Given the description of an element on the screen output the (x, y) to click on. 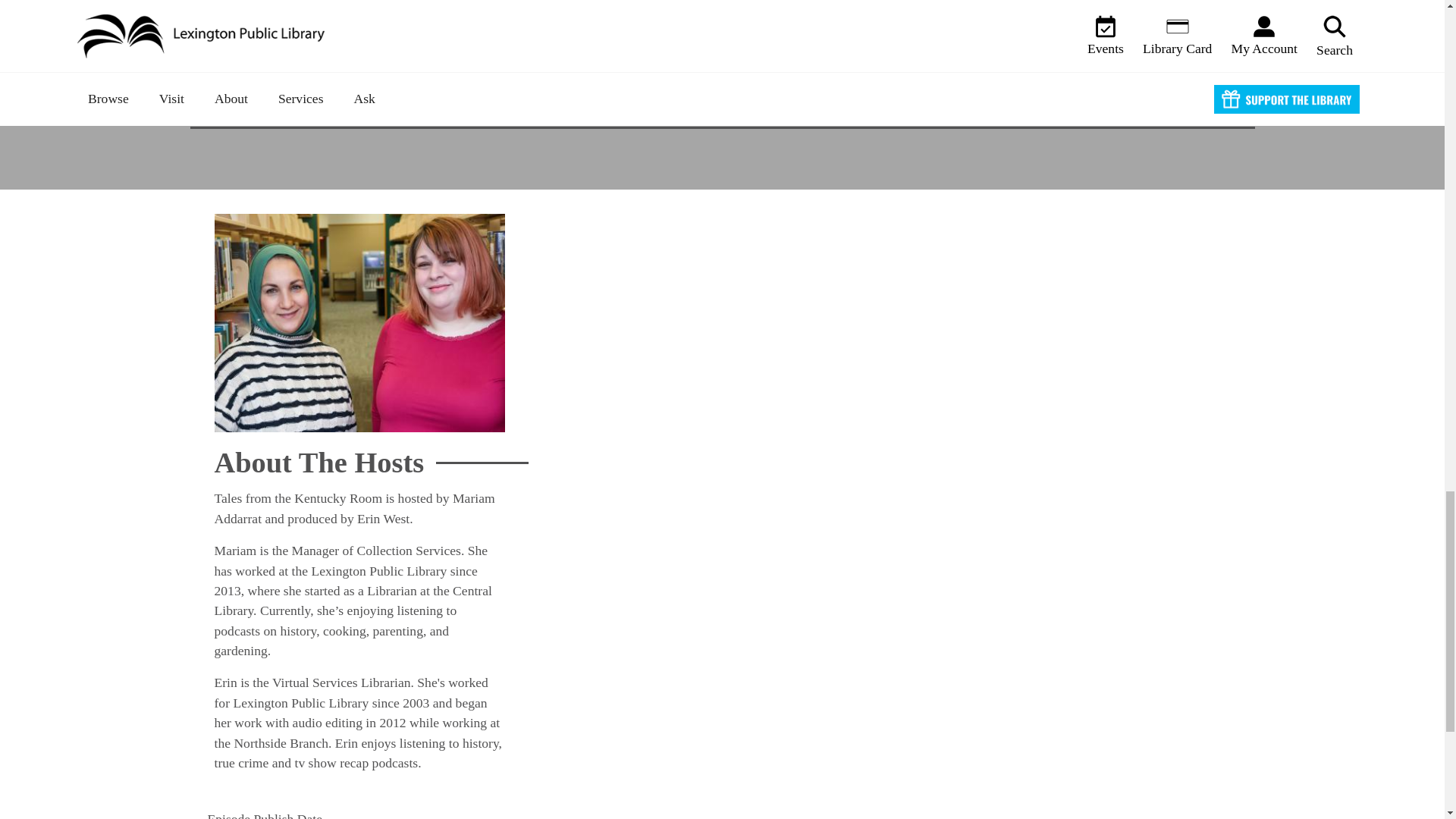
reCAPTCHA (353, 72)
Submit (1130, 42)
